Given the description of an element on the screen output the (x, y) to click on. 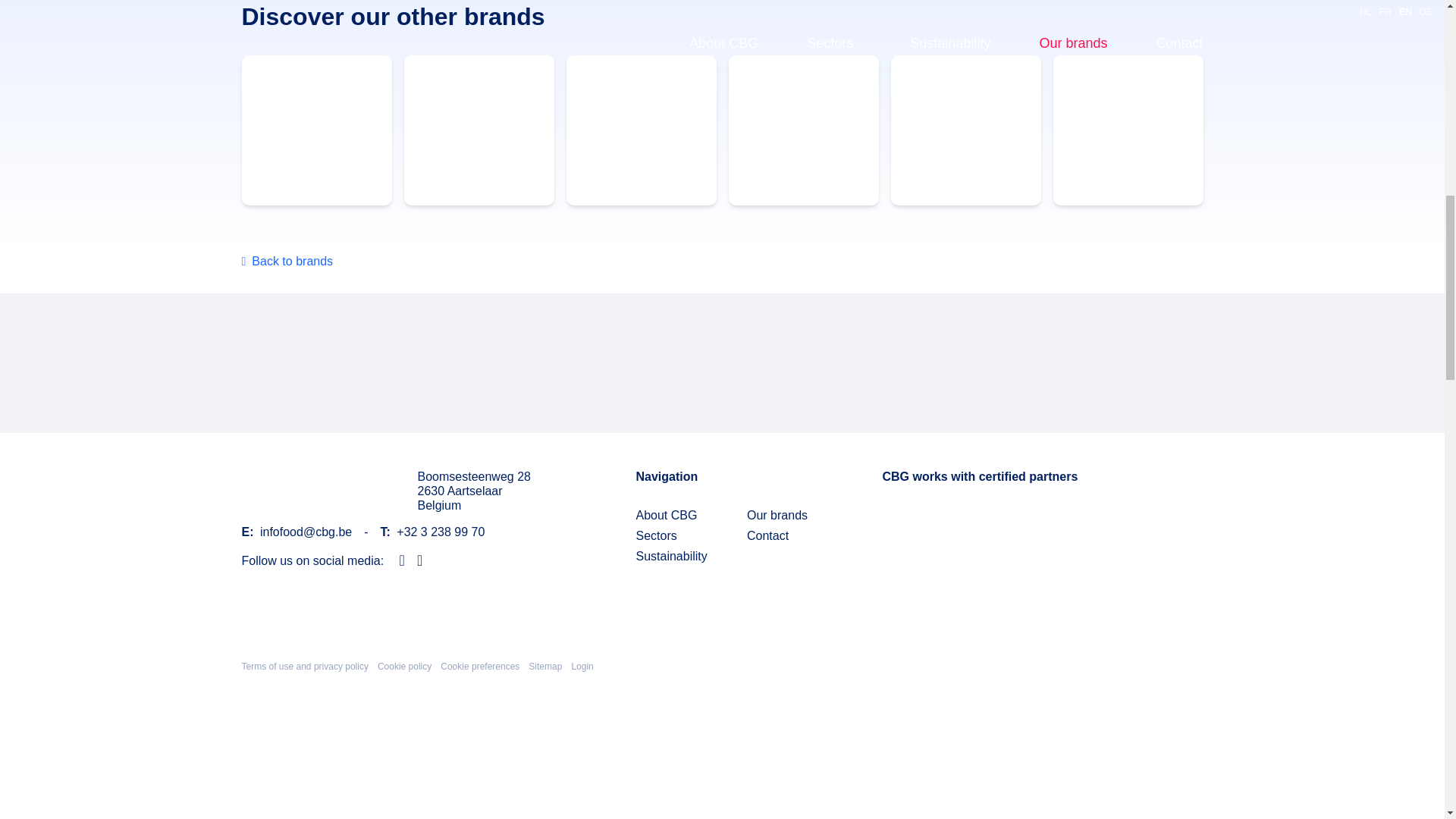
Go-Tan (478, 130)
Violet (965, 130)
First State (802, 130)
Back to brands (287, 260)
IFS Logistics (487, 362)
La Chasse (641, 130)
